Given the description of an element on the screen output the (x, y) to click on. 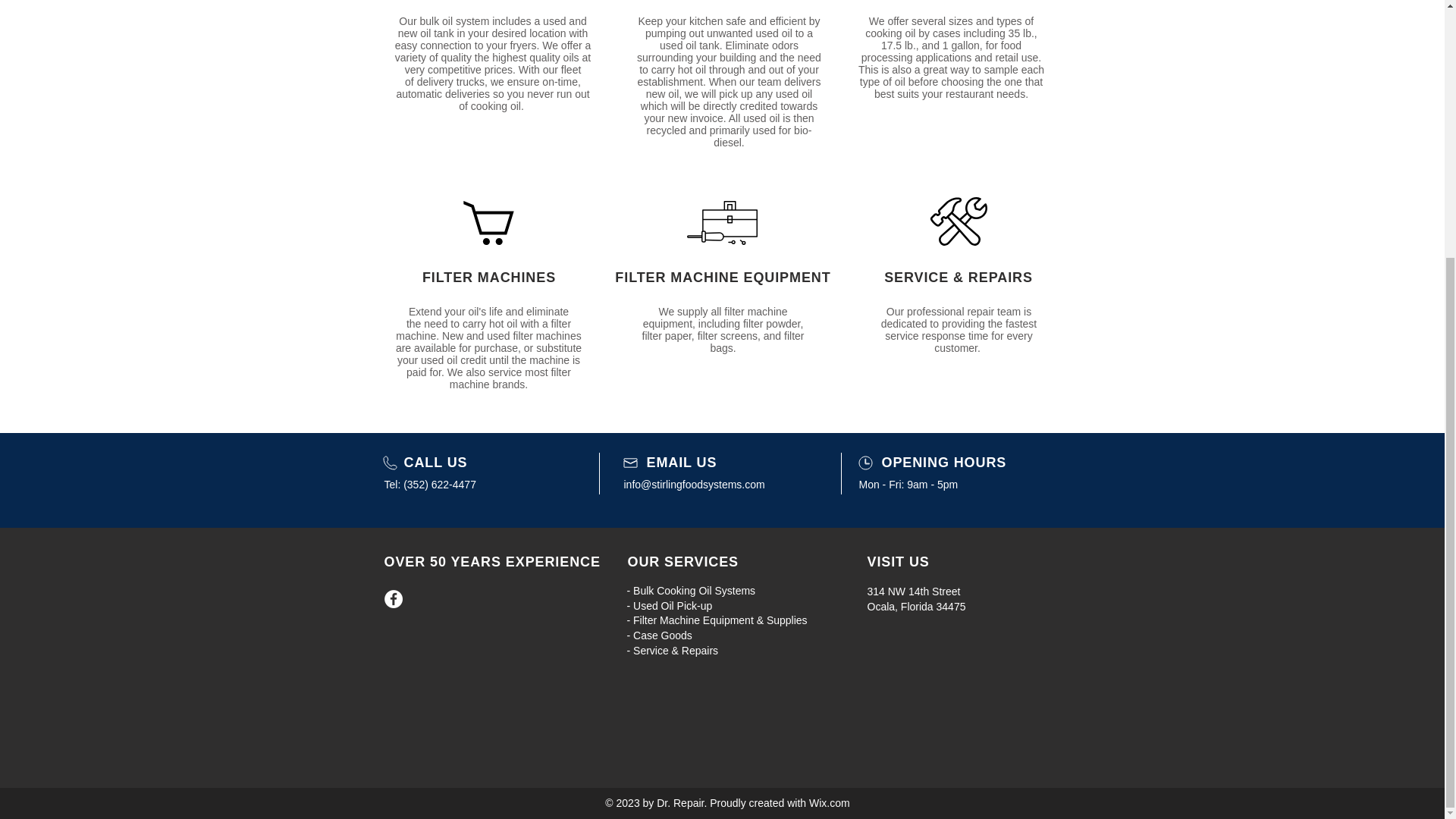
Wix.com (829, 802)
